Given the description of an element on the screen output the (x, y) to click on. 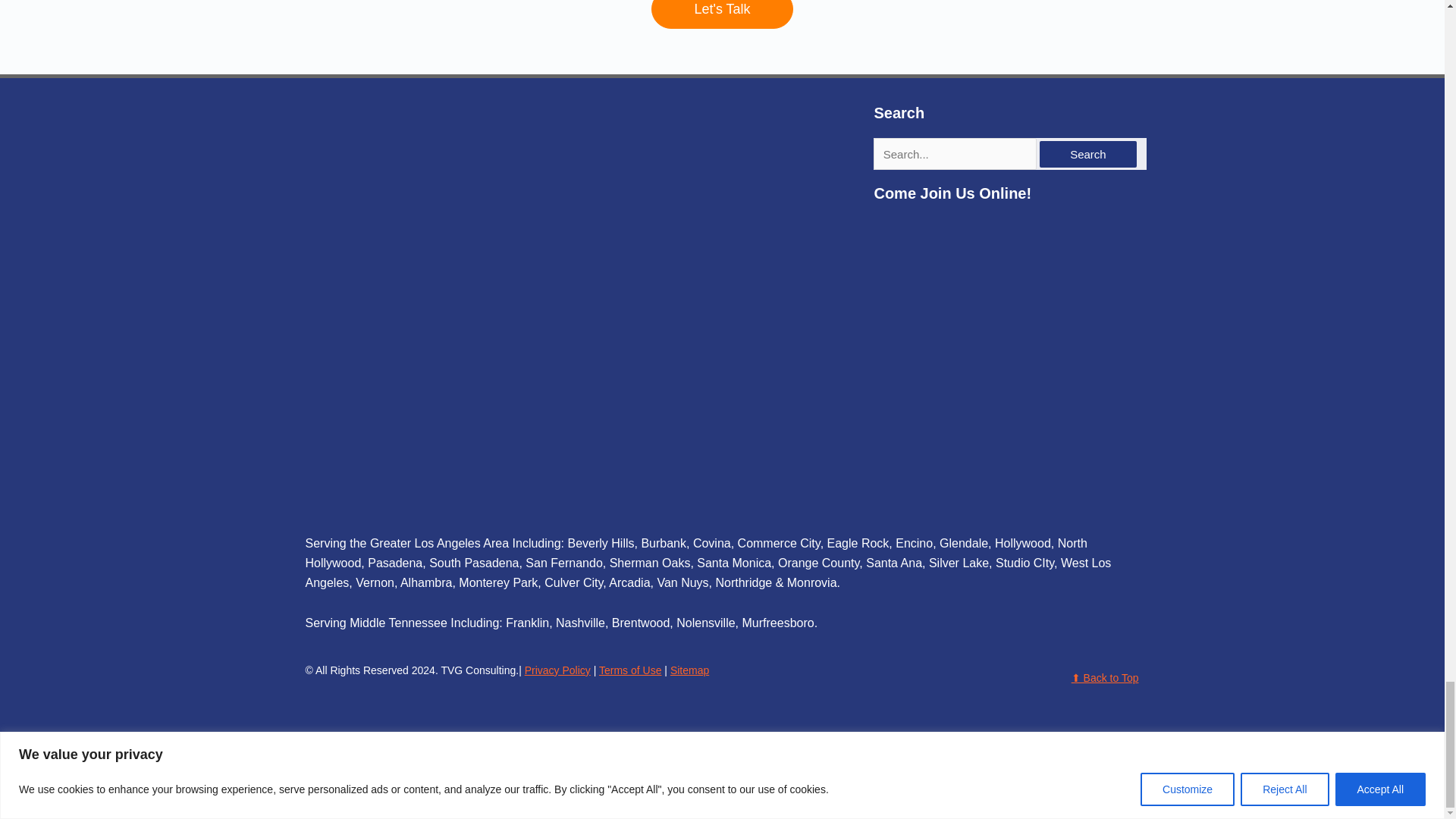
Search (1088, 153)
Search (1088, 153)
